Given the description of an element on the screen output the (x, y) to click on. 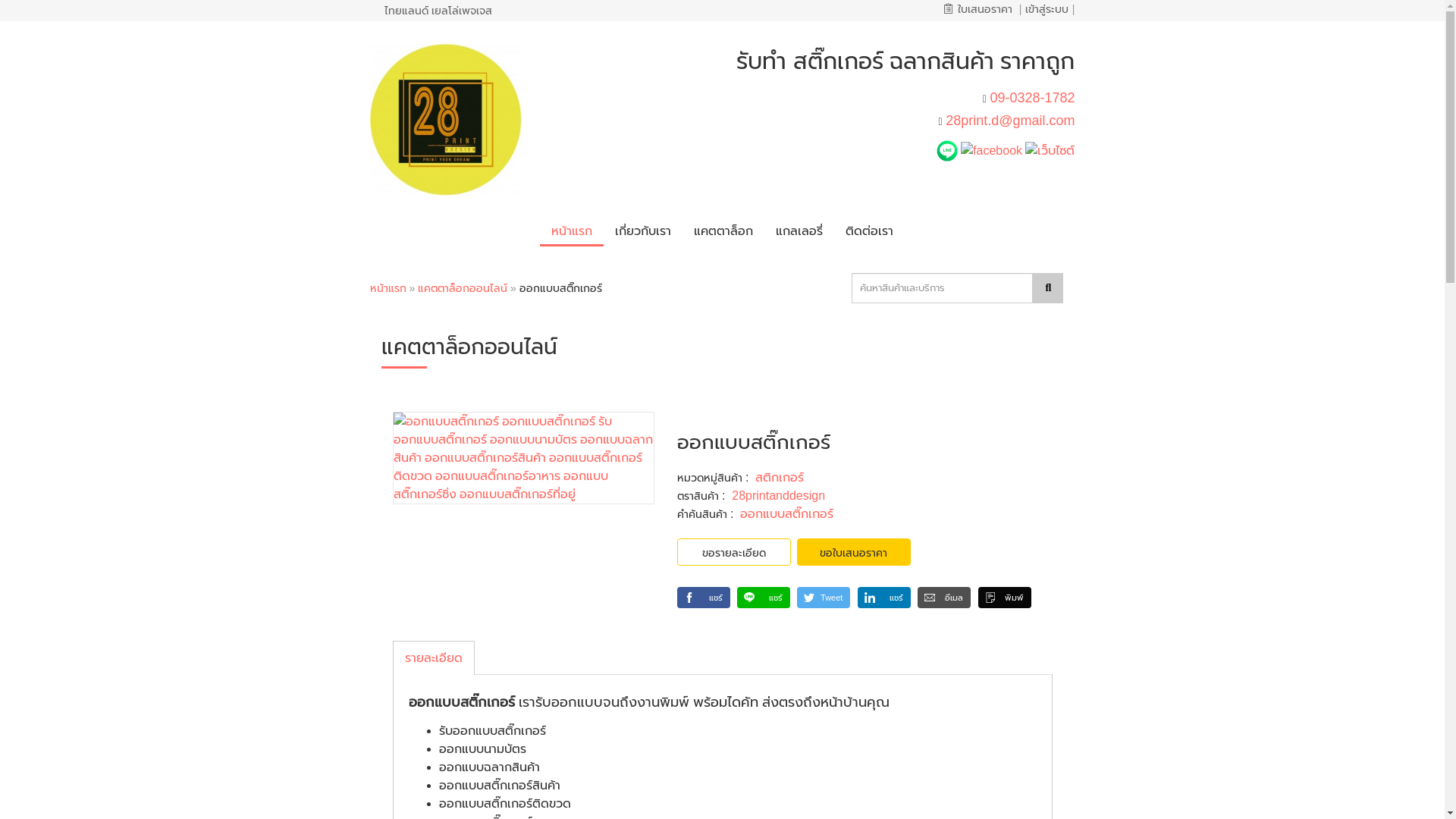
28print.d@gmail.com Element type: text (1009, 120)
Tweet Element type: text (823, 597)
ID Line : @28print.d Element type: hover (948, 149)
09-0328-1782 Element type: text (1031, 96)
28printanddesign Element type: text (778, 495)
facebook Element type: hover (991, 149)
